Given the description of an element on the screen output the (x, y) to click on. 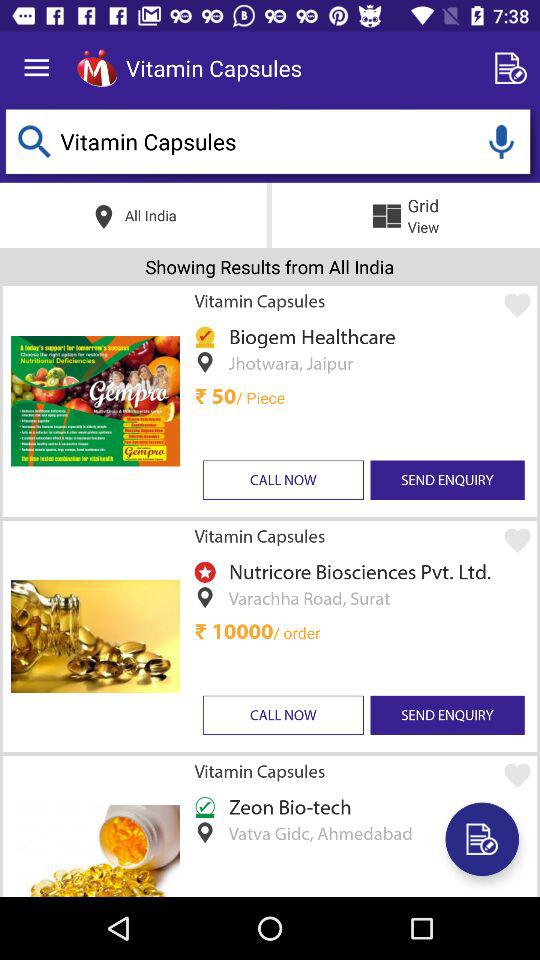
click on logo (96, 67)
